Given the description of an element on the screen output the (x, y) to click on. 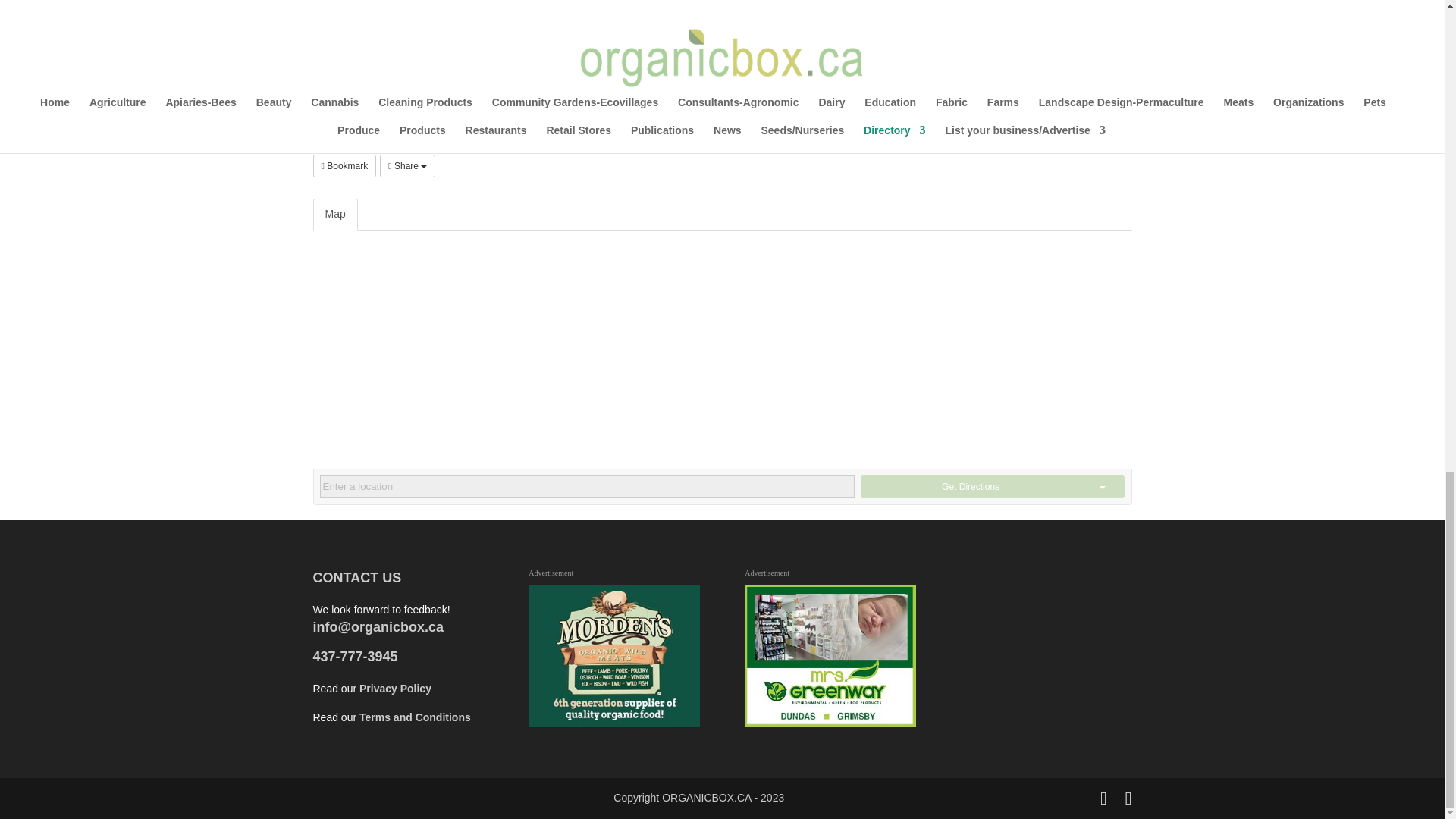
Twitter (329, 108)
Facebook (317, 108)
Mrs Greenway250x300 (829, 655)
Morden's Organic Farm Store (613, 655)
Bookmark this Listing (344, 165)
